Given the description of an element on the screen output the (x, y) to click on. 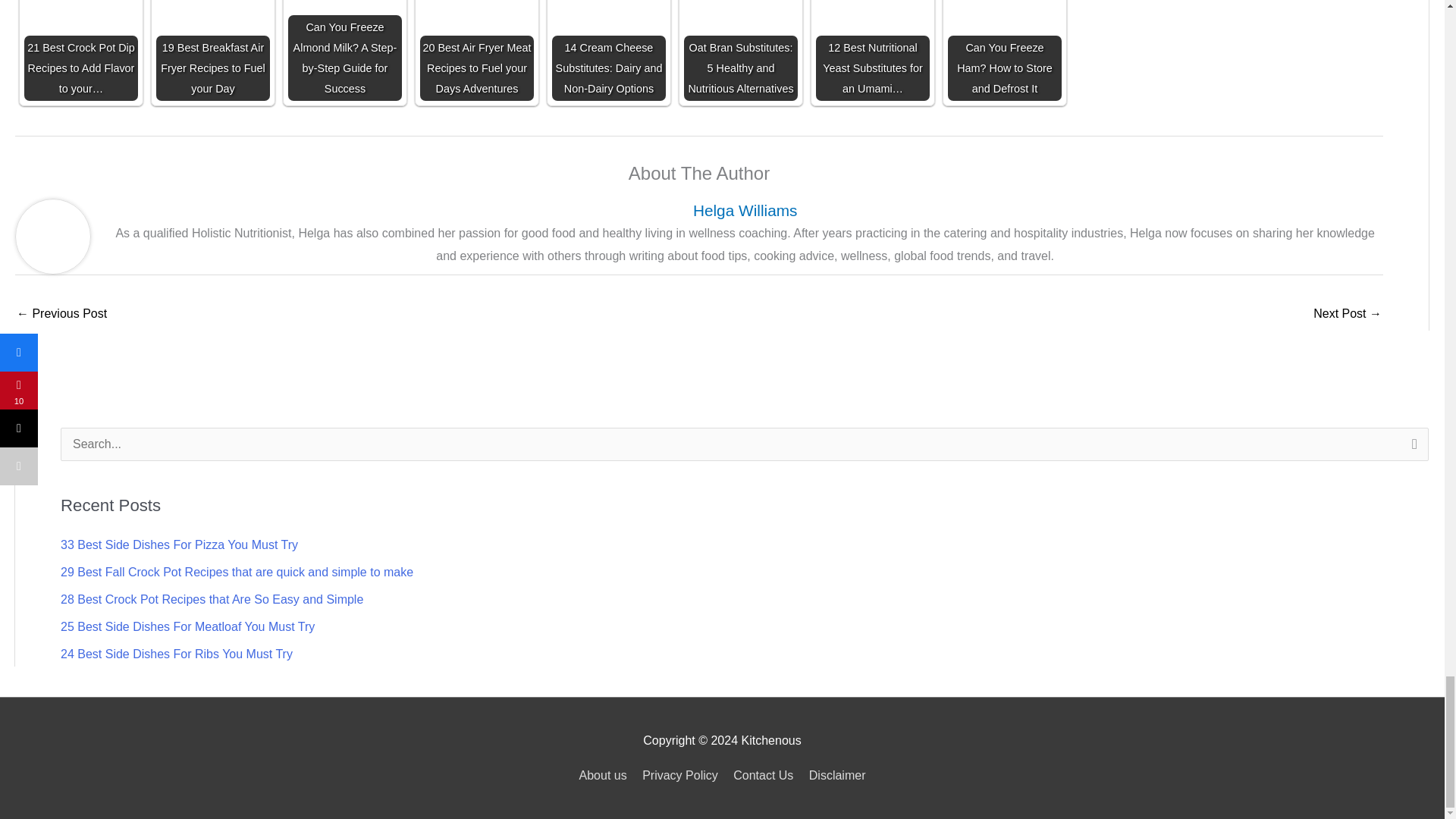
Can You Freeze Watermelon? A Step-by-Step Guide (1347, 315)
Can You Freeze Ham? How to Store and Defrost It (1004, 50)
14 Cream Cheese Substitutes: Dairy and Non-Dairy Options (608, 50)
Can You Freeze Almond Milk? A Step-by-Step Guide for Success (344, 50)
20 Best Air Fryer Meat Recipes to Fuel your Days Adventures (477, 50)
28 Best Crock Pot Recipes that Are So Easy and Simple (211, 599)
Can You Freeze Ham? How to Store and Defrost It (1004, 50)
Oat Bran Substitutes: 5 Healthy and Nutritious Alternatives (740, 50)
14 Cream Cheese Substitutes: Dairy and Non-Dairy Options (608, 50)
